Given the description of an element on the screen output the (x, y) to click on. 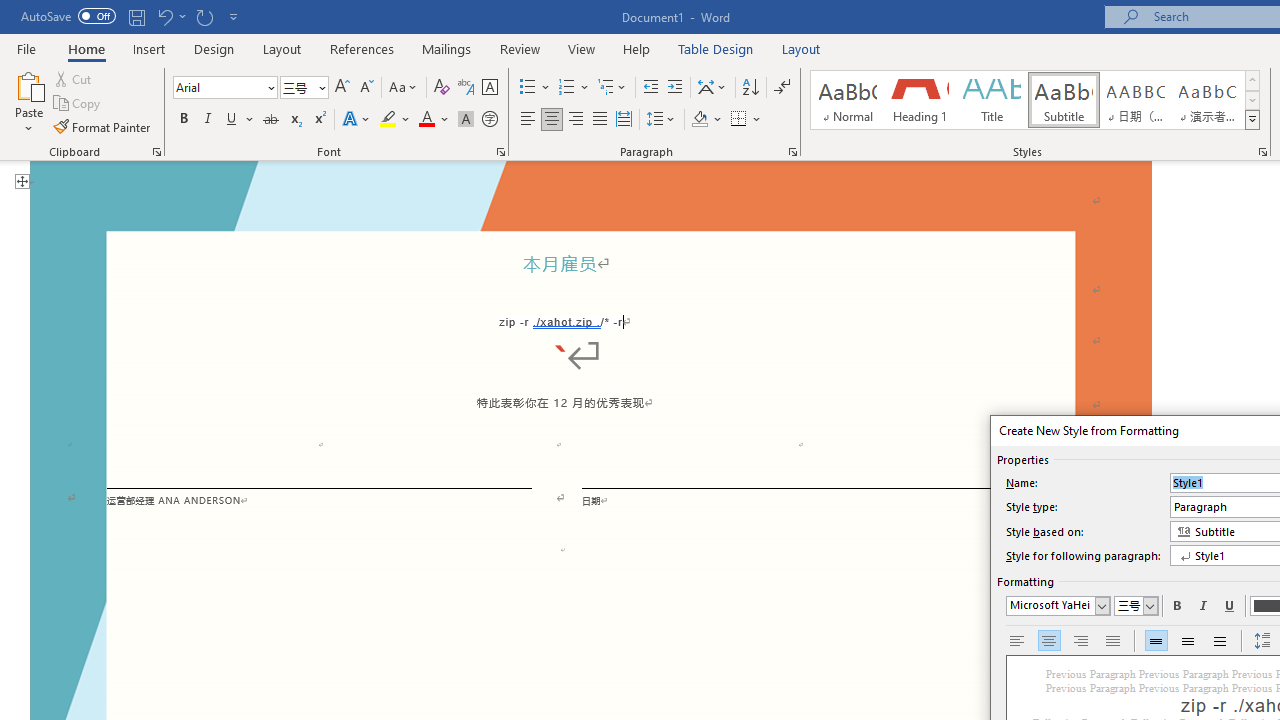
Title (991, 100)
Heading 1 (920, 100)
Undo Paste (164, 15)
Increase Paragraph Spacing (1262, 641)
